Given the description of an element on the screen output the (x, y) to click on. 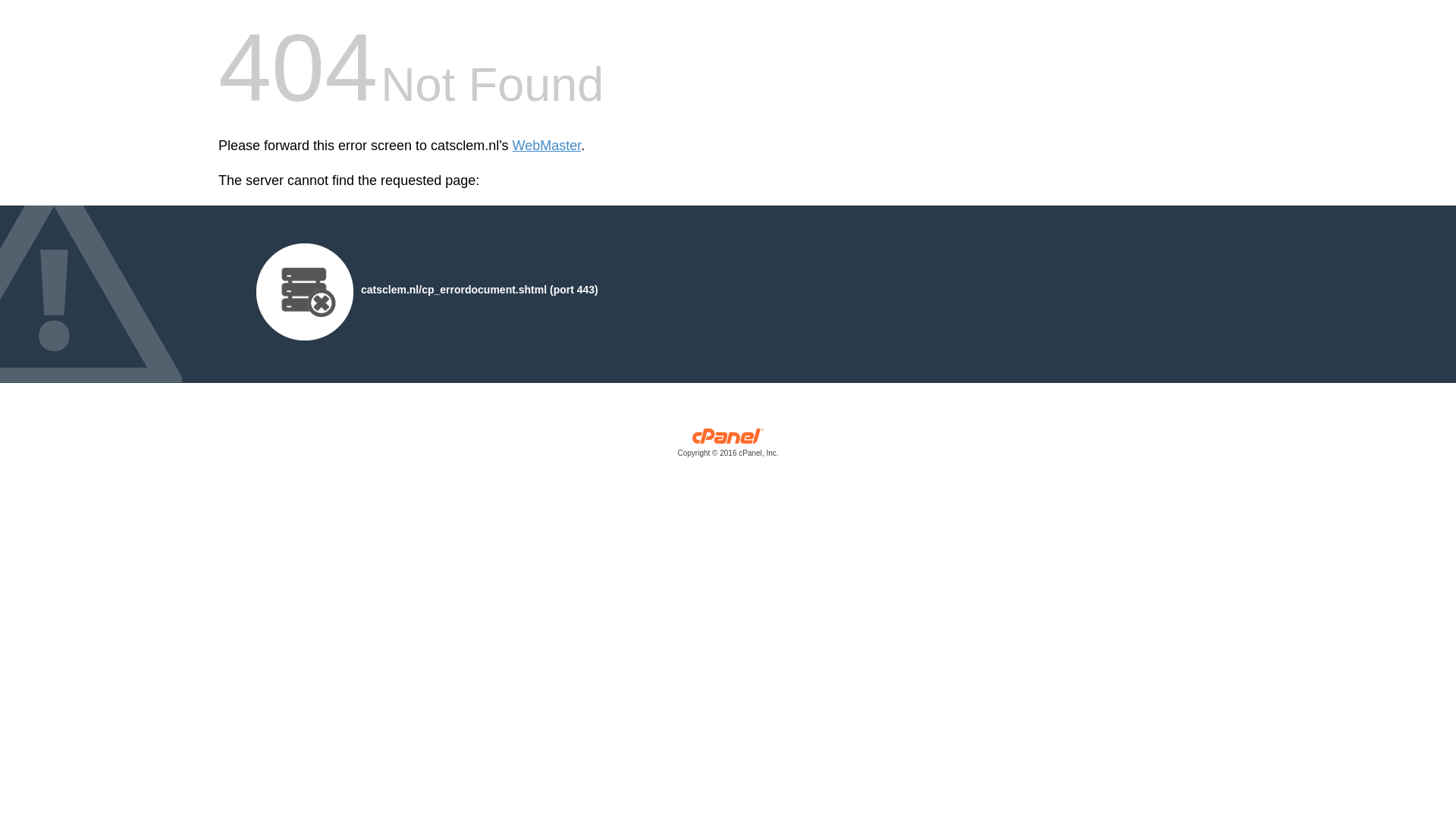
WebMaster (546, 145)
cPanel, Inc. (727, 446)
